Given the description of an element on the screen output the (x, y) to click on. 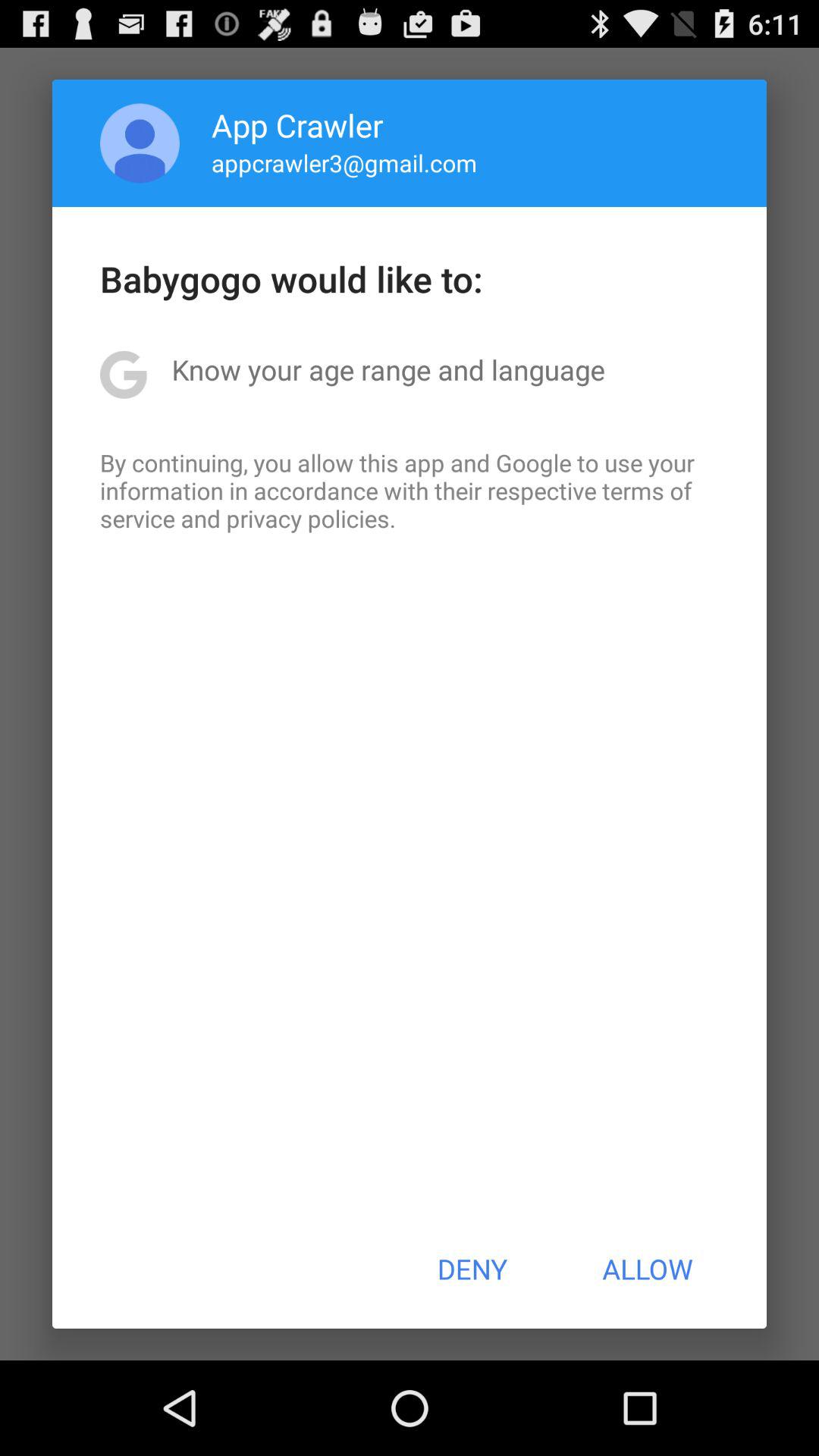
turn off app to the left of app crawler (139, 143)
